Given the description of an element on the screen output the (x, y) to click on. 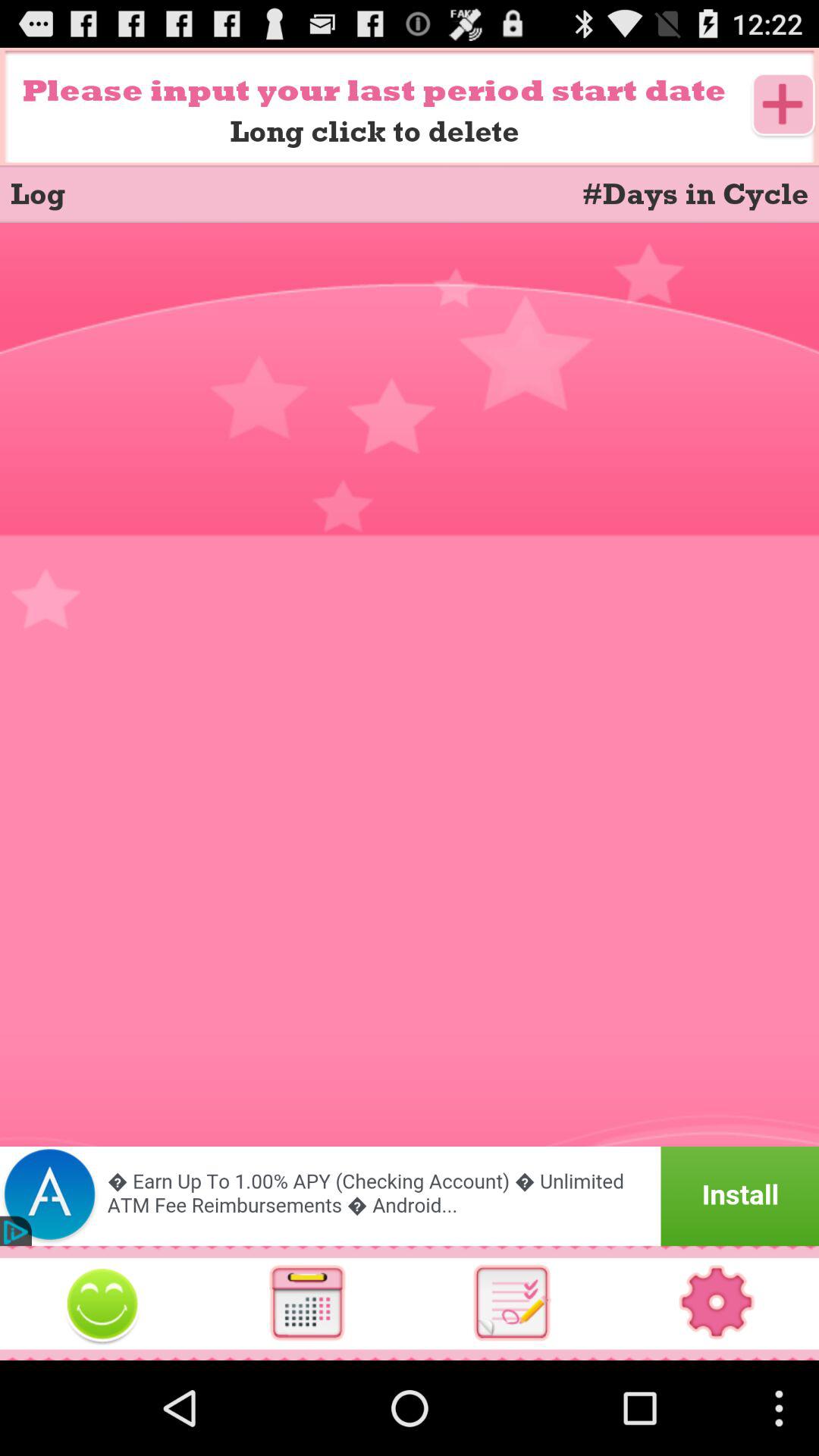
use calculator (306, 1302)
